Given the description of an element on the screen output the (x, y) to click on. 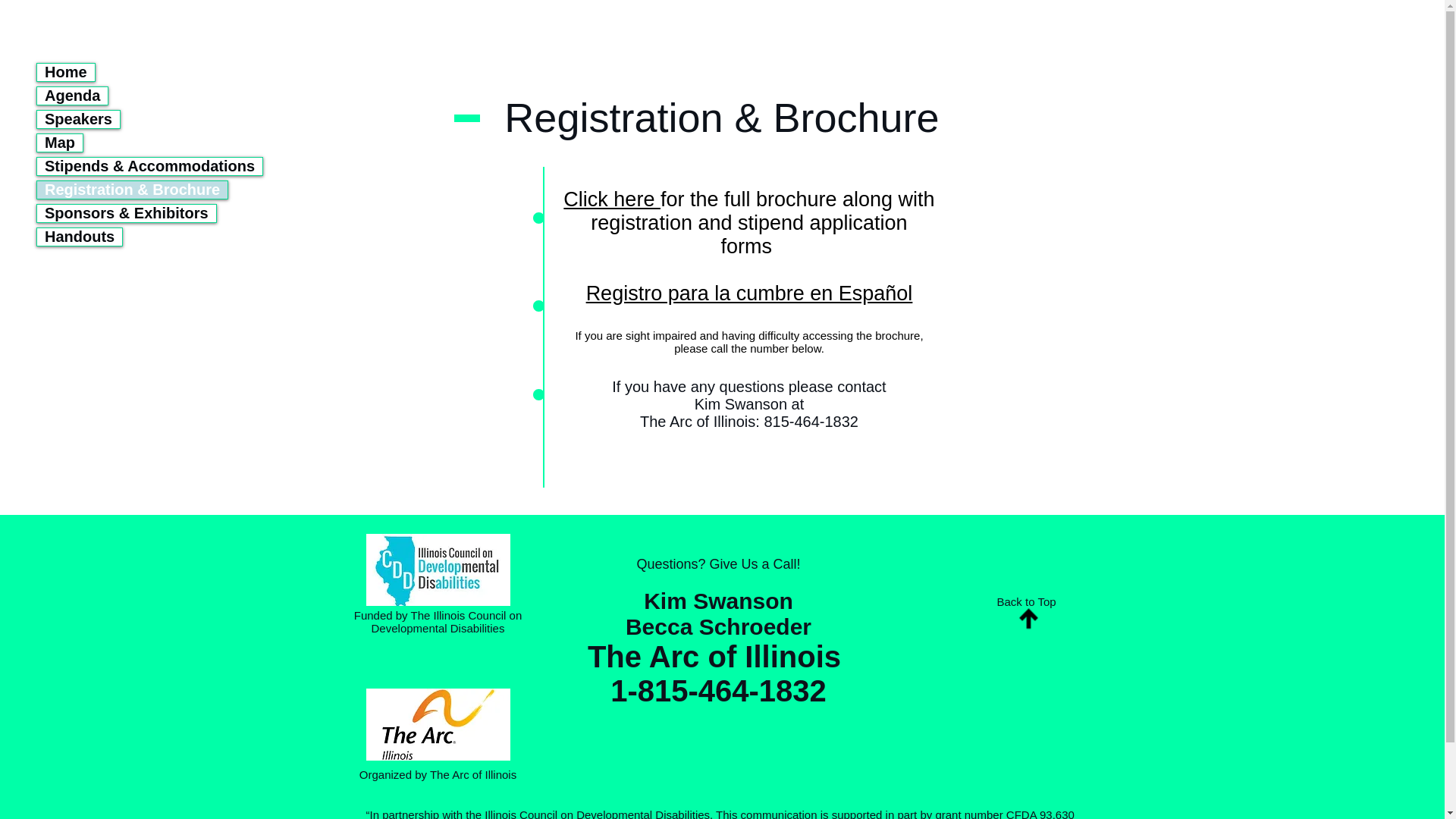
Back to Top (1025, 601)
Click here (612, 199)
Map (59, 142)
Home (65, 72)
Handouts (79, 236)
Agenda (72, 95)
Speakers (78, 118)
